Given the description of an element on the screen output the (x, y) to click on. 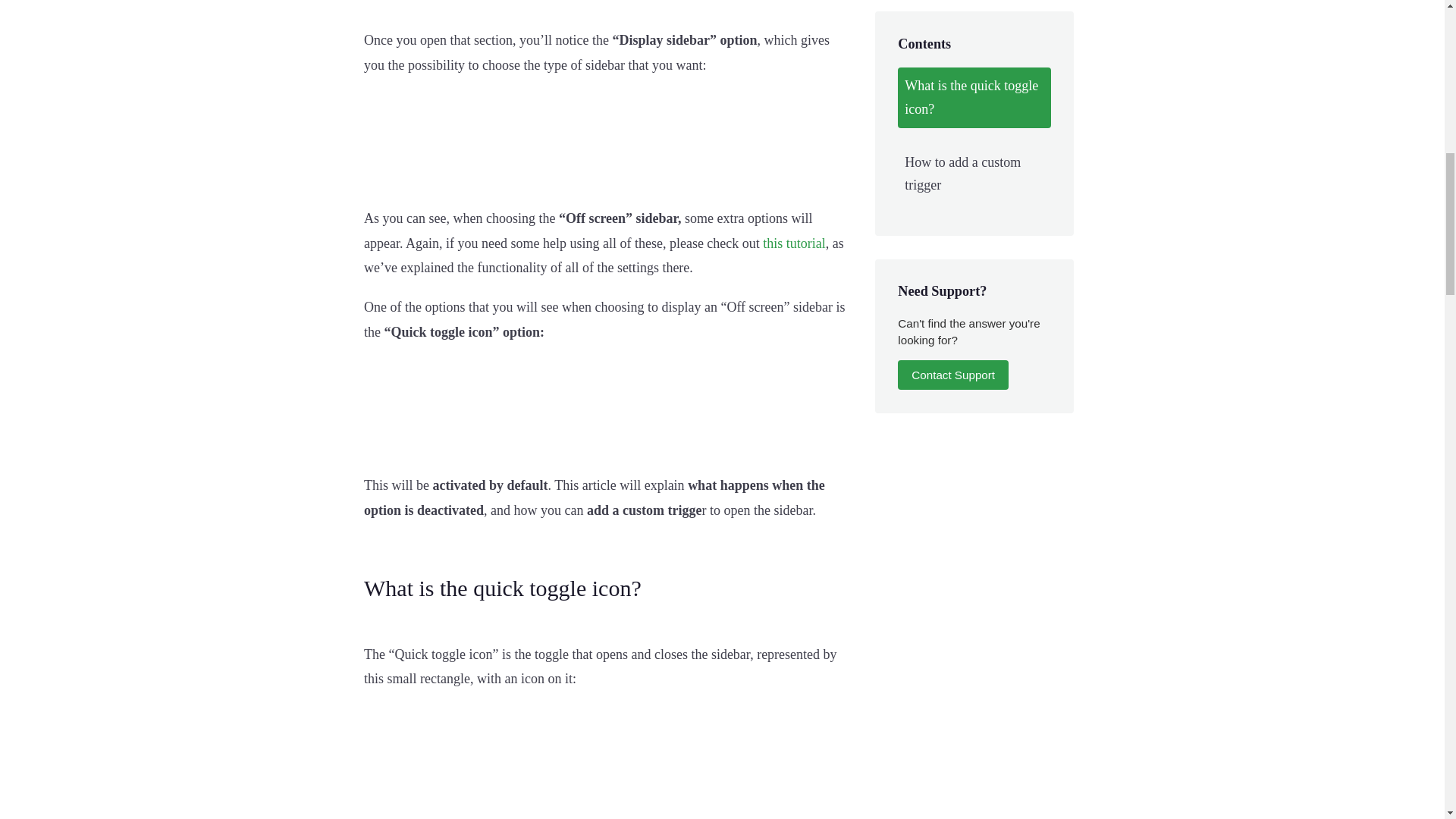
this tutorial (793, 242)
